Given the description of an element on the screen output the (x, y) to click on. 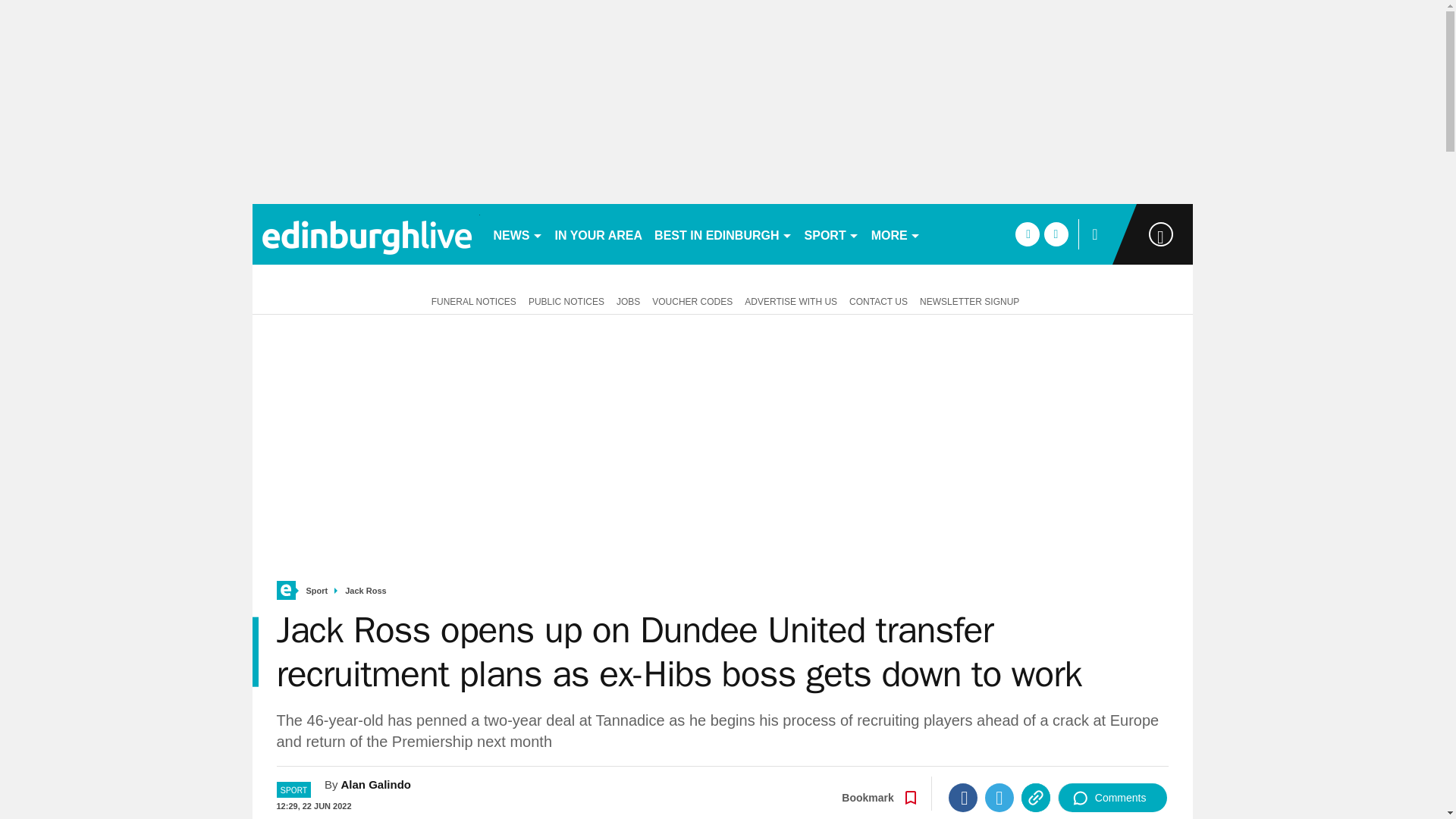
IN YOUR AREA (598, 233)
twitter (1055, 233)
Facebook (962, 797)
Twitter (999, 797)
Comments (1112, 797)
SPORT (830, 233)
edinburghlive (365, 233)
MORE (895, 233)
BEST IN EDINBURGH (722, 233)
NEWS (517, 233)
